Given the description of an element on the screen output the (x, y) to click on. 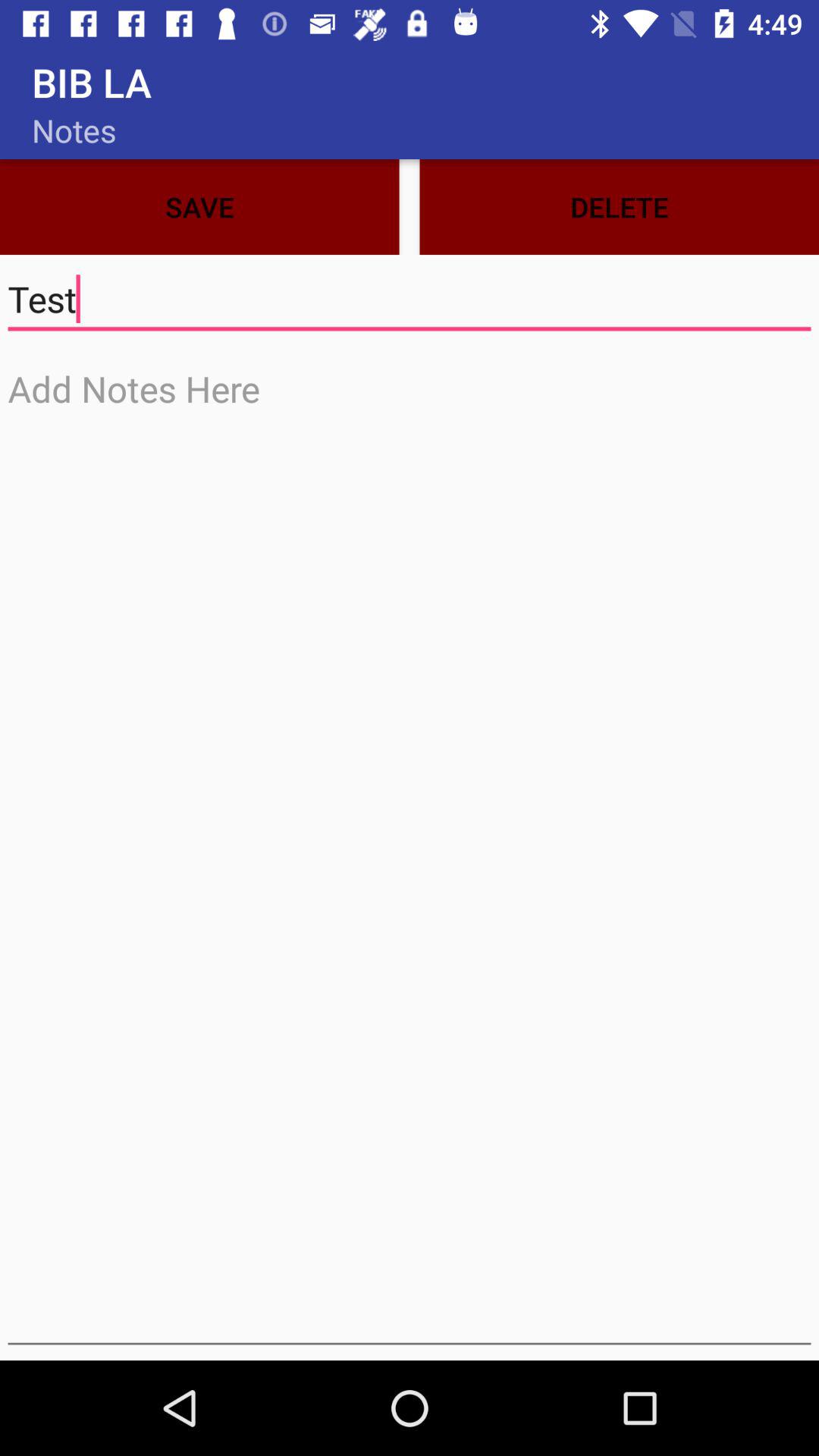
tap the item above test item (619, 206)
